Given the description of an element on the screen output the (x, y) to click on. 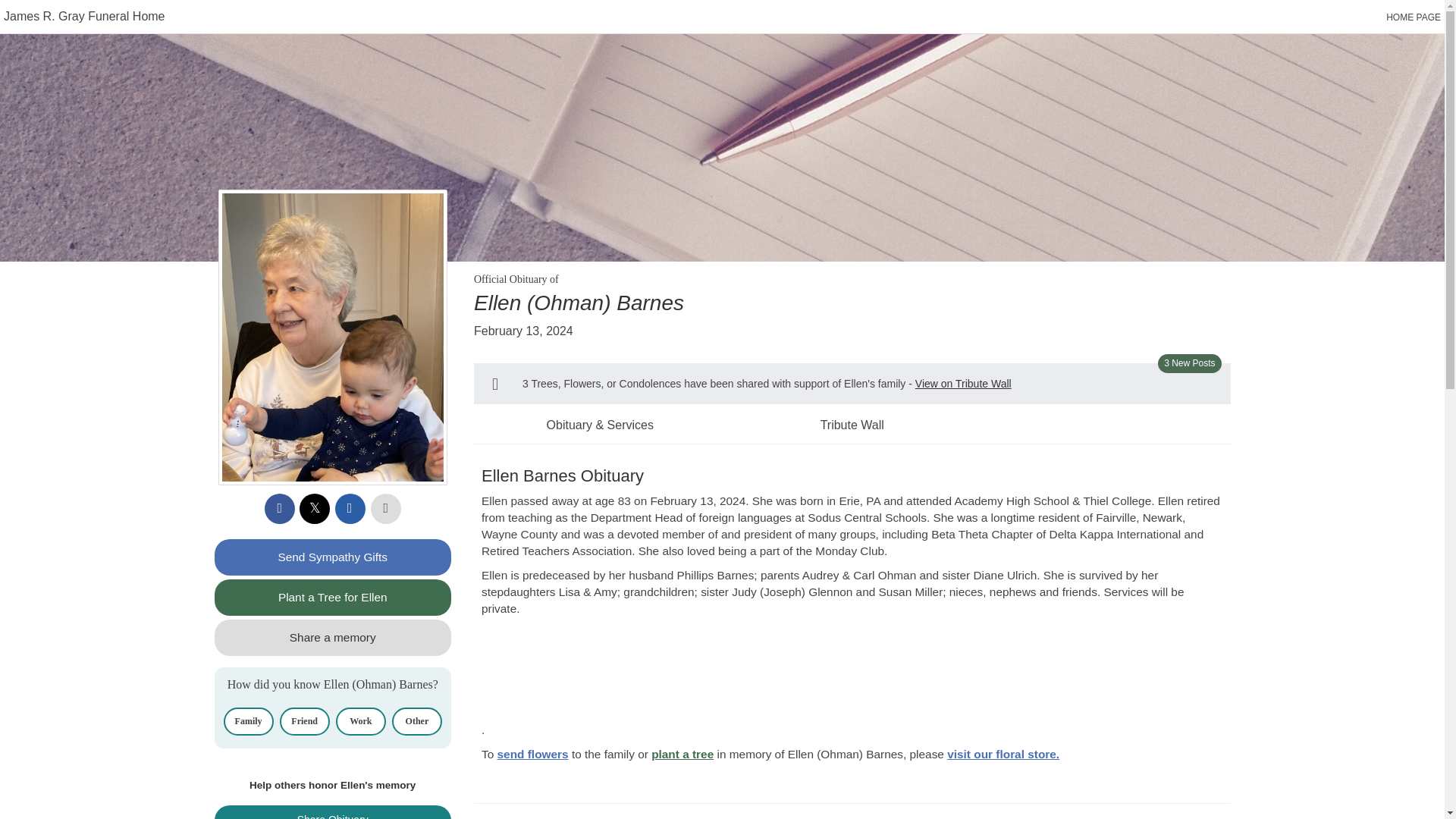
Printable copy (386, 508)
Share to Facebook (279, 508)
Send Sympathy Gifts (332, 556)
Share via email (349, 508)
Share on X (314, 508)
View on Tribute Wall (963, 383)
plant a tree (681, 753)
Plant a Tree for Ellen (332, 597)
Share Obituary (332, 812)
visit our floral store. (1003, 753)
Share a memory (332, 637)
send flowers (533, 753)
James R. Gray Funeral Home (84, 15)
HOME PAGE (1413, 17)
